Given the description of an element on the screen output the (x, y) to click on. 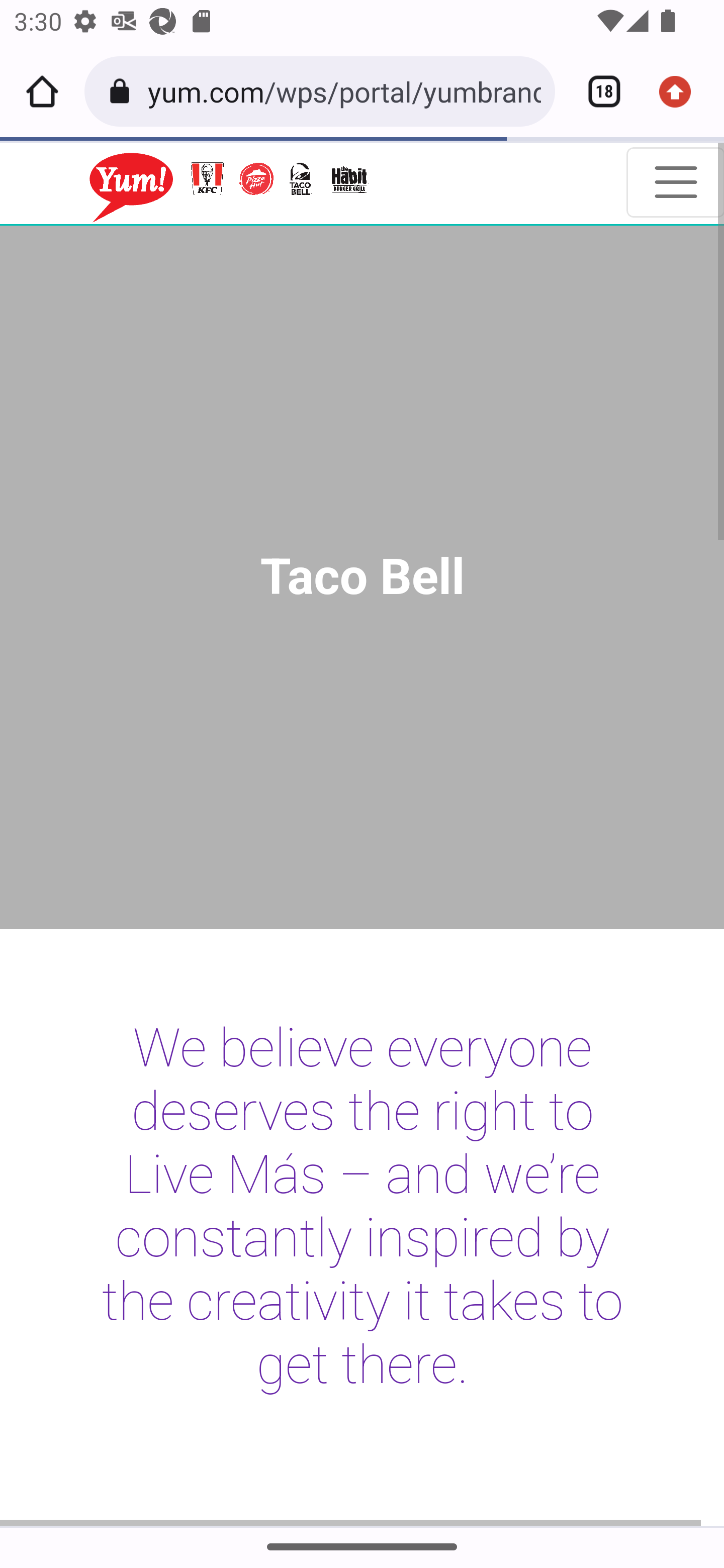
Home (42, 91)
Connection is secure (122, 91)
Switch or close tabs (597, 91)
Update available. More options (681, 91)
javascript:void(0); (202, 183)
Toggle navigation (675, 181)
